Given the description of an element on the screen output the (x, y) to click on. 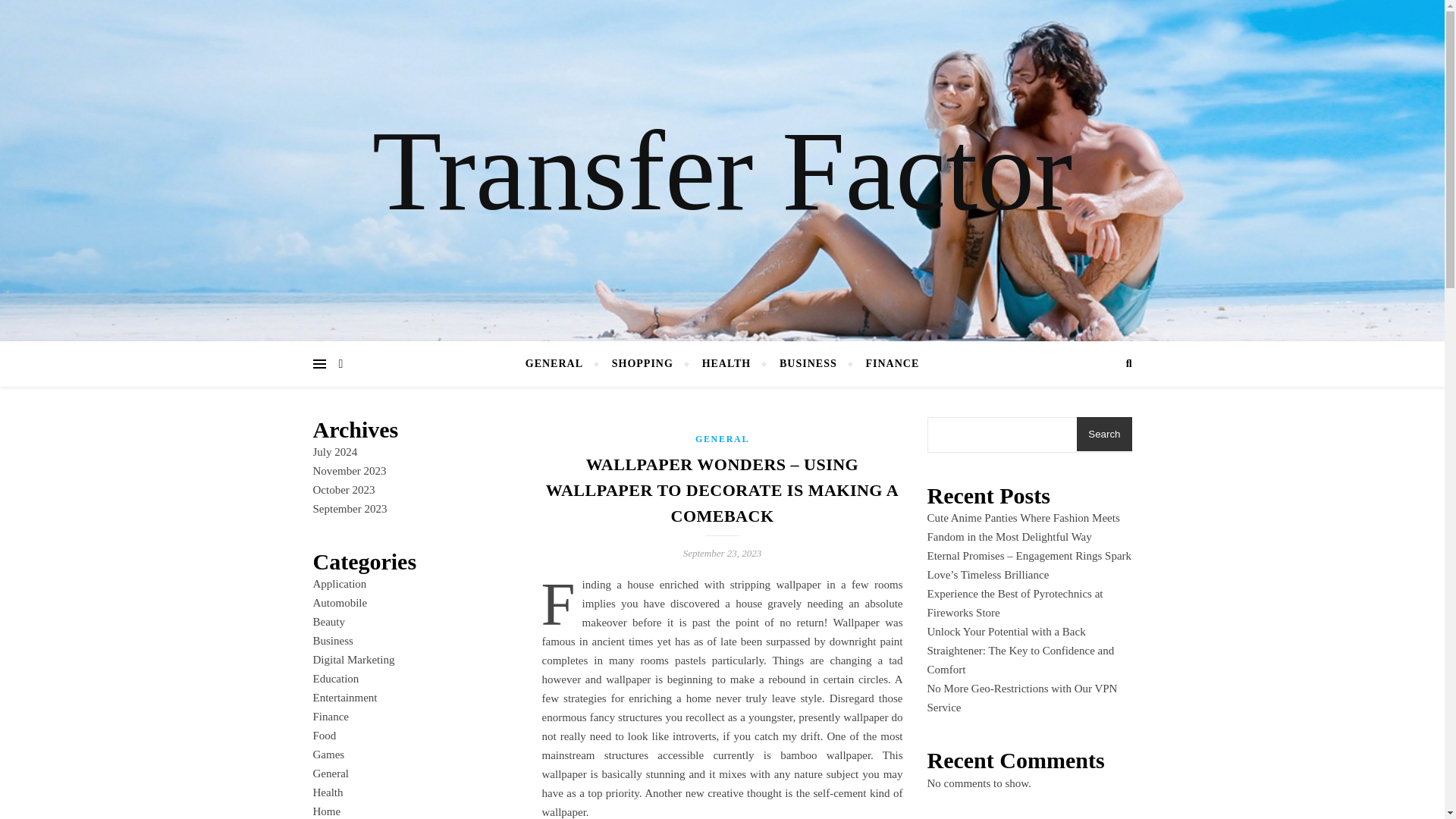
Beauty (329, 621)
Business (332, 640)
Education (335, 678)
Home (326, 811)
Automobile (339, 603)
Finance (330, 716)
July 2024 (334, 451)
Entertainment (345, 697)
Food (324, 735)
General (330, 773)
September 2023 (350, 508)
FINANCE (884, 363)
SHOPPING (641, 363)
Games (328, 754)
Digital Marketing (353, 659)
